Given the description of an element on the screen output the (x, y) to click on. 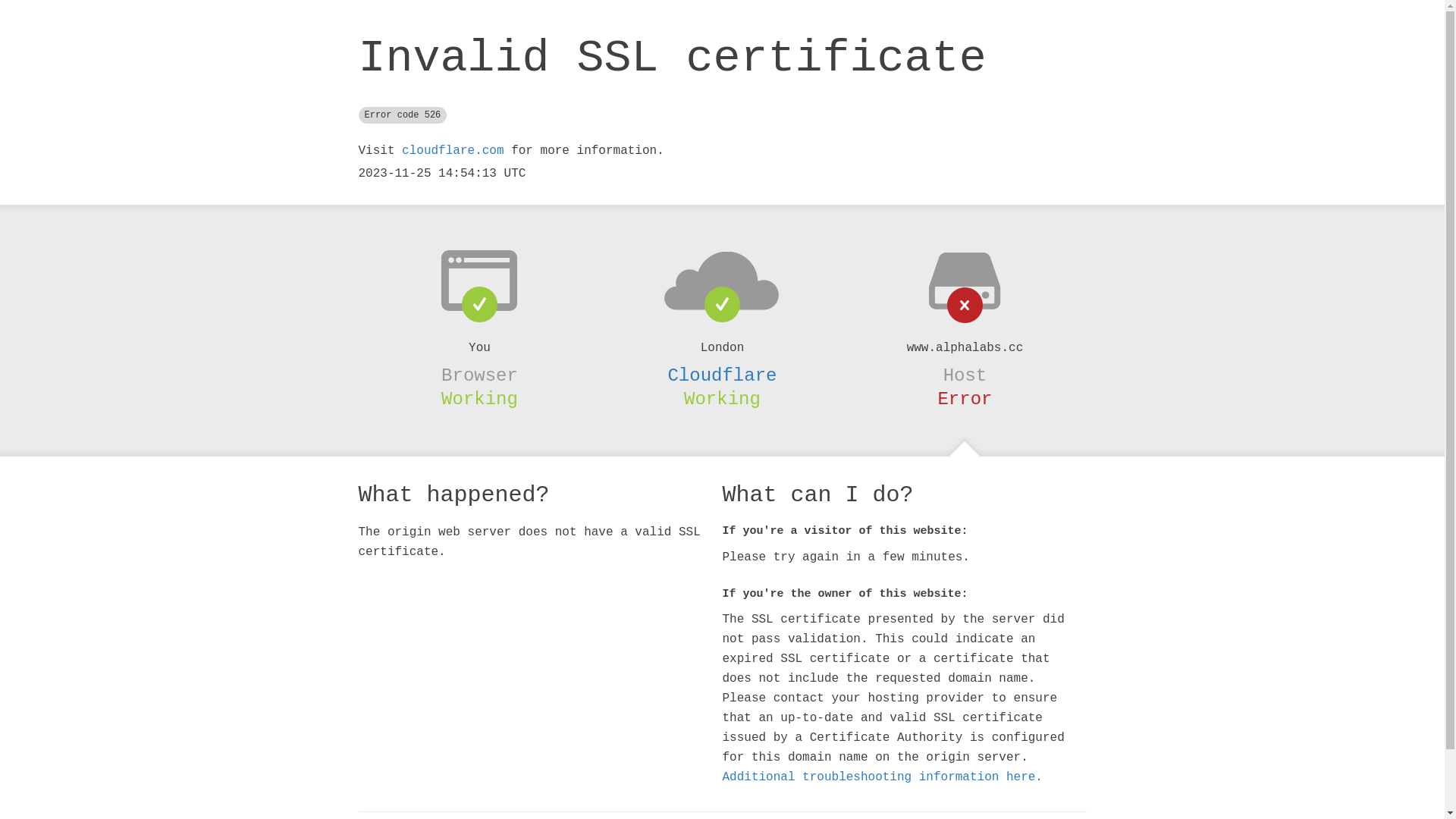
cloudflare.com Element type: text (452, 150)
Cloudflare Element type: text (721, 375)
Additional troubleshooting information here. Element type: text (881, 777)
